Given the description of an element on the screen output the (x, y) to click on. 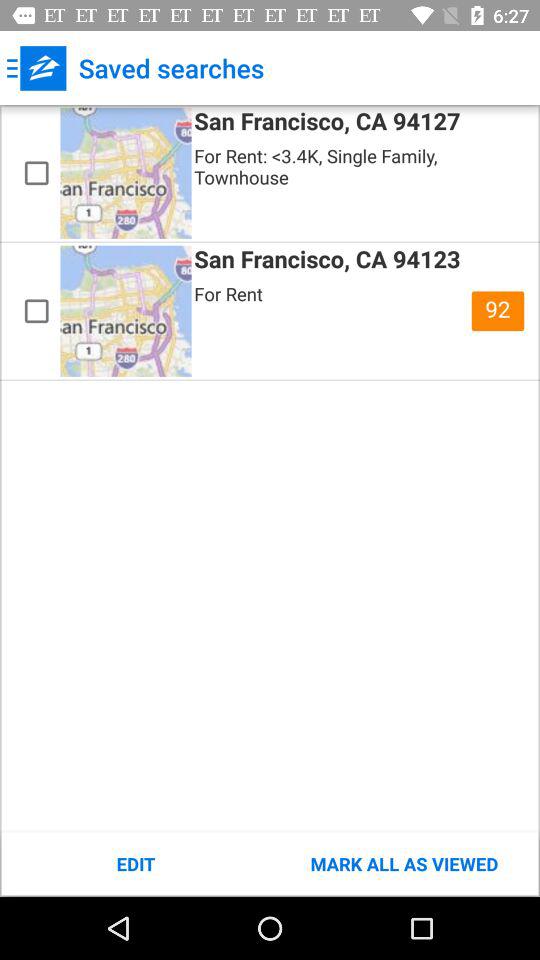
tap the icon to the right of the san francisco ca item (497, 311)
